Given the description of an element on the screen output the (x, y) to click on. 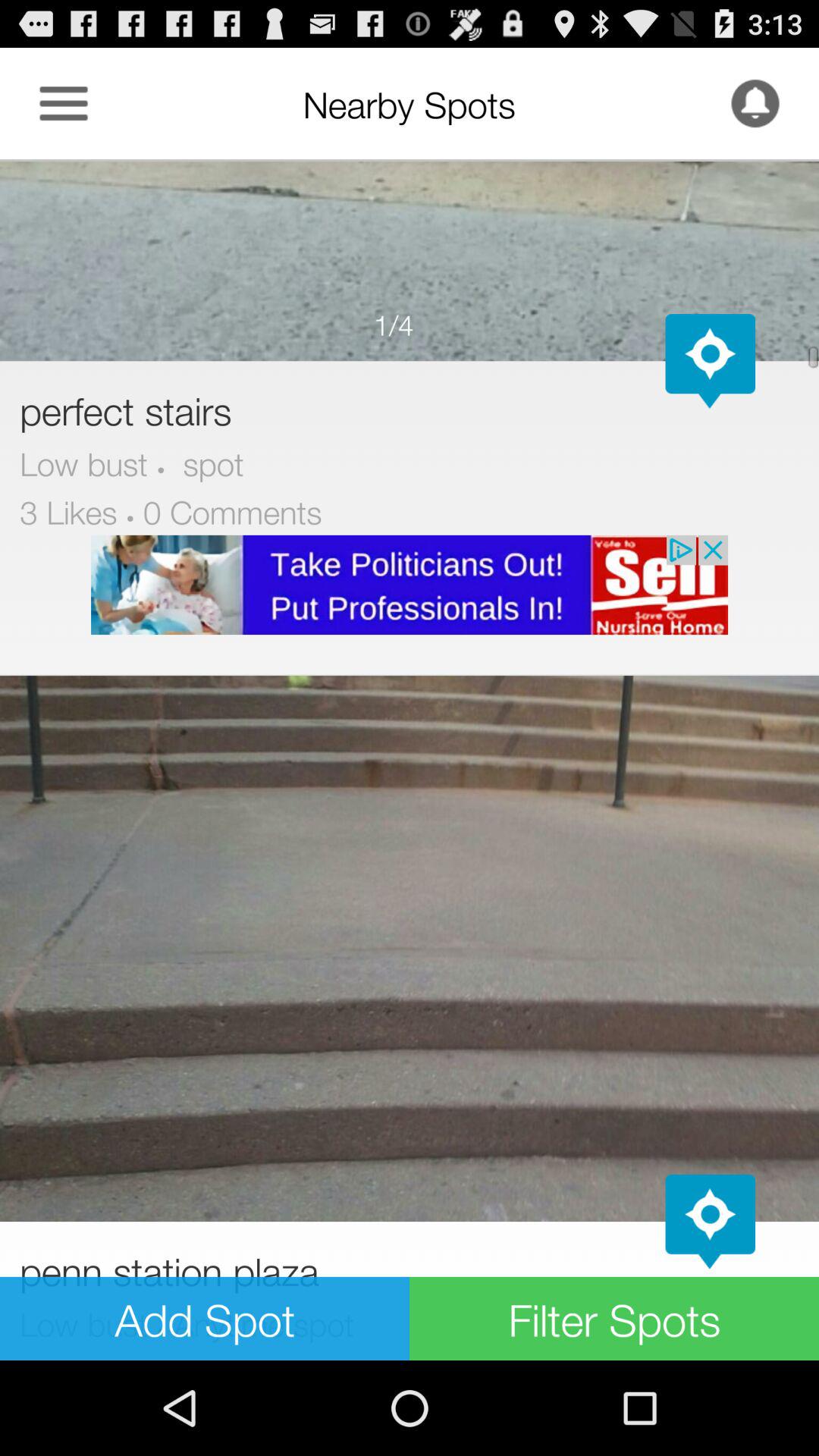
check out the advertisement (409, 584)
